Given the description of an element on the screen output the (x, y) to click on. 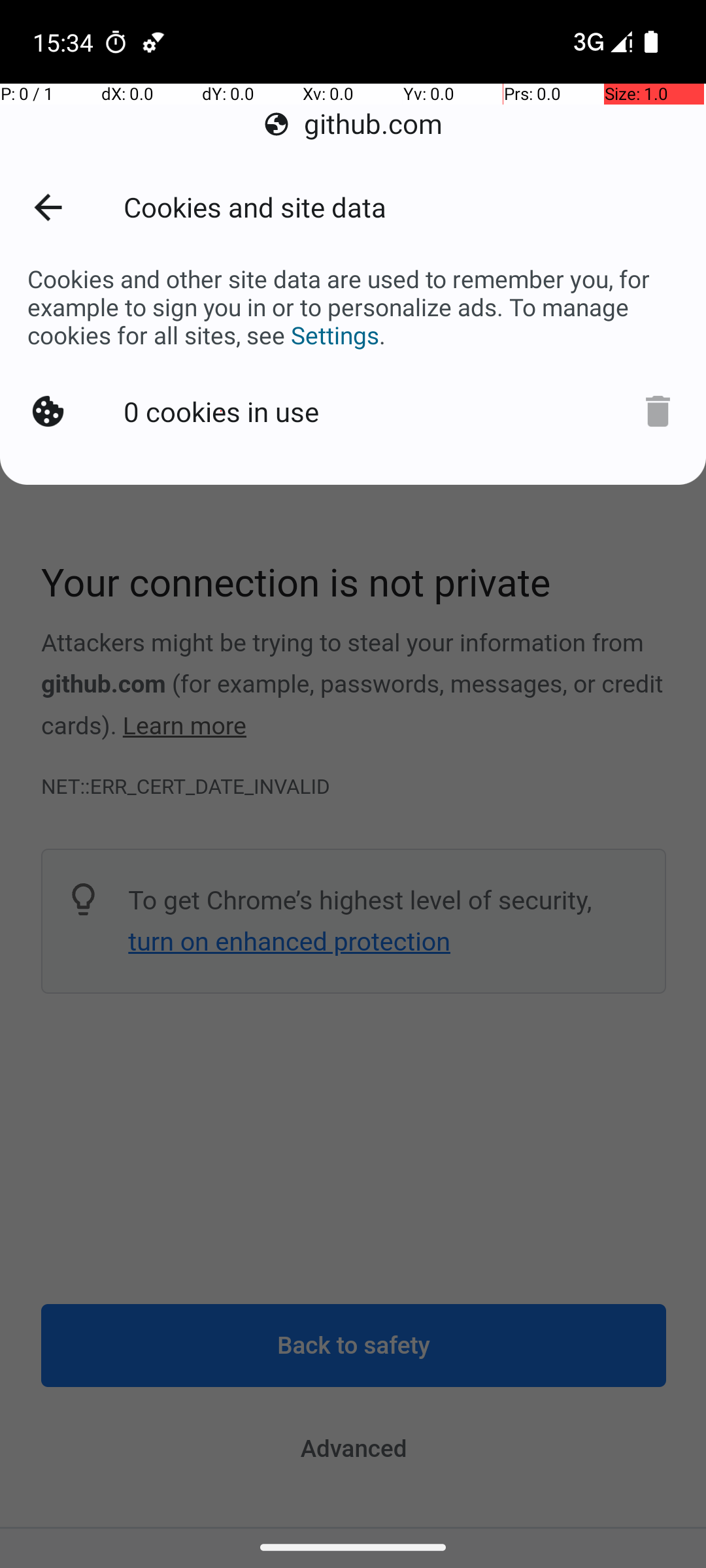
Cookies and other site data are used to remember you, for example to sign you in or to personalize ads. To manage cookies for all sites, see Settings. Element type: android.widget.TextView (352, 306)
0 cookies in use Element type: android.widget.TextView (221, 410)
Delete cookies? Element type: android.widget.ImageView (656, 410)
